Given the description of an element on the screen output the (x, y) to click on. 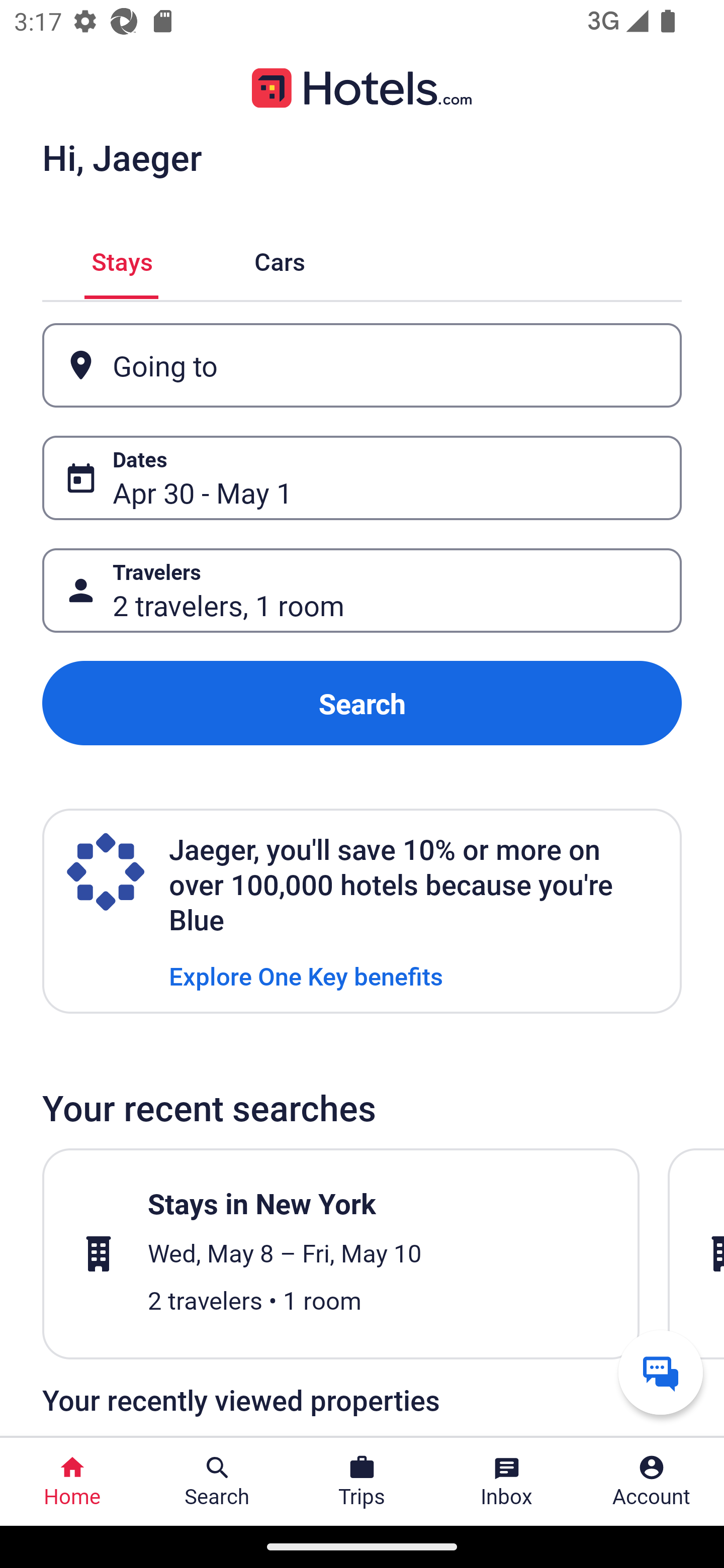
Hi, Jaeger (121, 156)
Cars (279, 259)
Going to Button (361, 365)
Dates Button Apr 30 - May 1 (361, 477)
Travelers Button 2 travelers, 1 room (361, 590)
Search (361, 702)
Get help from a virtual agent (660, 1371)
Search Search Button (216, 1481)
Trips Trips Button (361, 1481)
Inbox Inbox Button (506, 1481)
Account Profile. Button (651, 1481)
